Given the description of an element on the screen output the (x, y) to click on. 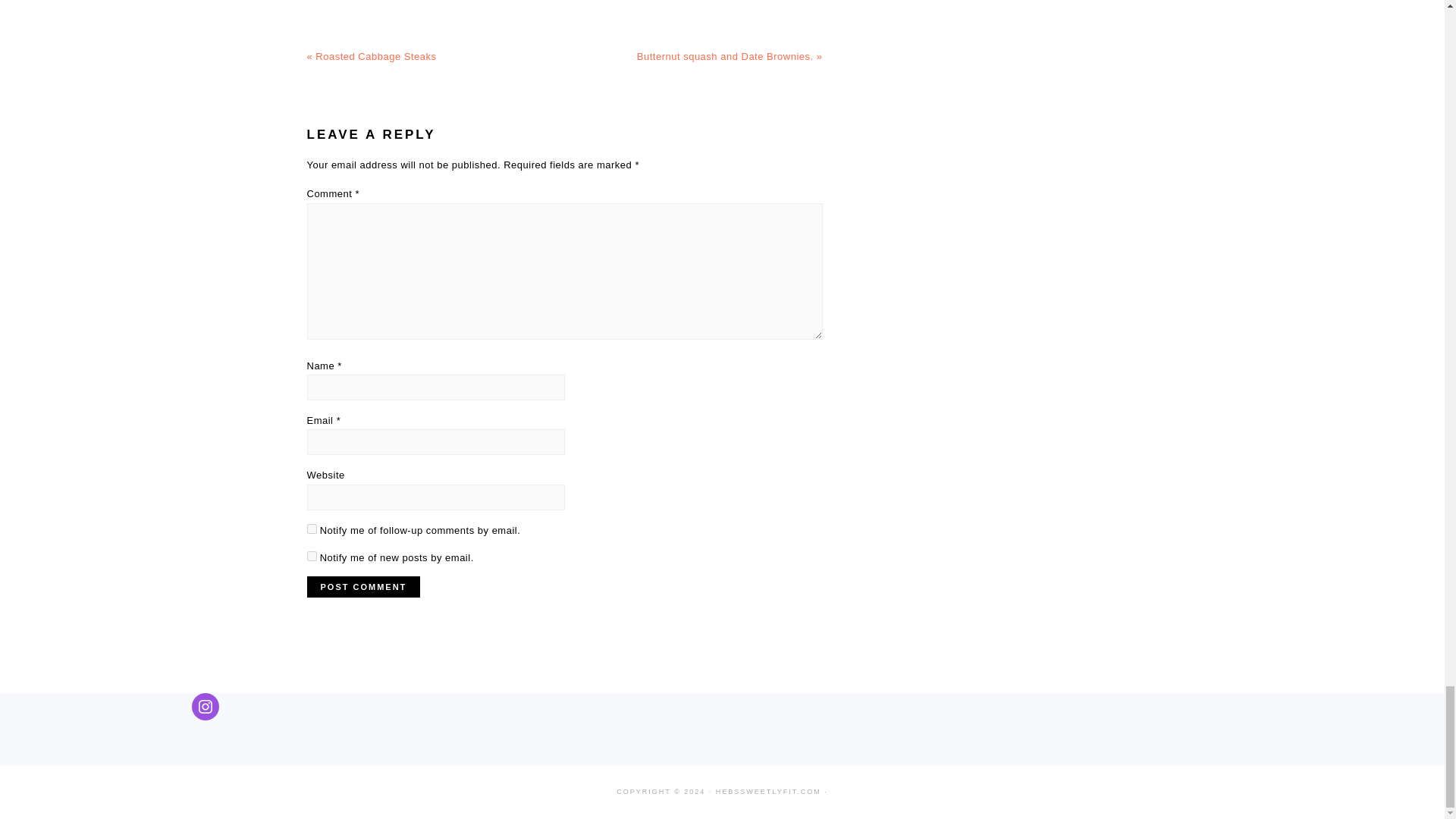
subscribe (310, 528)
Post Comment (362, 586)
Post Comment (362, 586)
subscribe (310, 556)
